Given the description of an element on the screen output the (x, y) to click on. 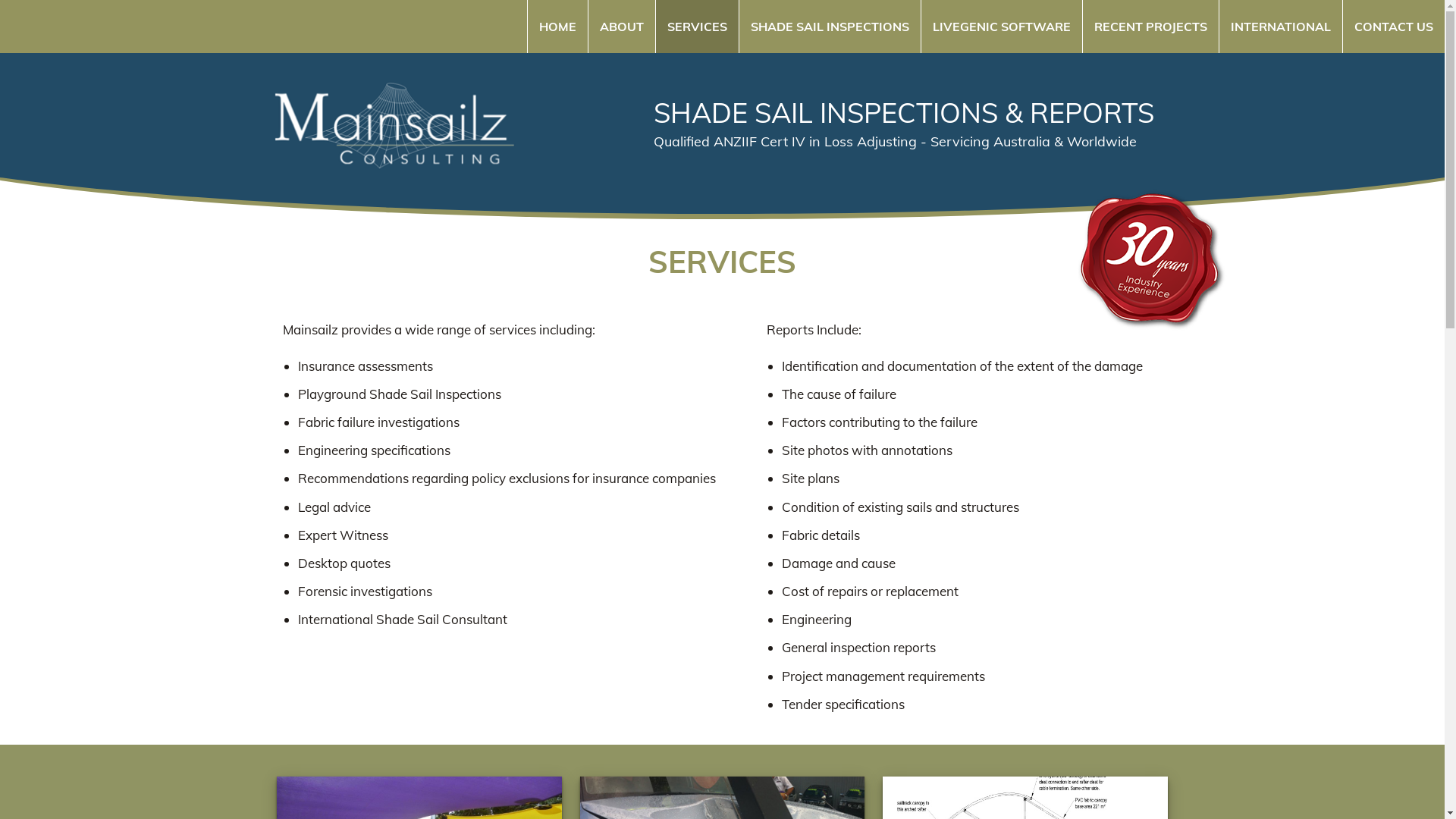
CONTACT US Element type: text (1393, 26)
ABOUT Element type: text (621, 26)
LIVEGENIC SOFTWARE Element type: text (1001, 26)
SHADE SAIL INSPECTIONS Element type: text (829, 26)
HOME Element type: text (557, 26)
RECENT PROJECTS Element type: text (1150, 26)
SERVICES Element type: text (696, 26)
INTERNATIONAL Element type: text (1280, 26)
